Given the description of an element on the screen output the (x, y) to click on. 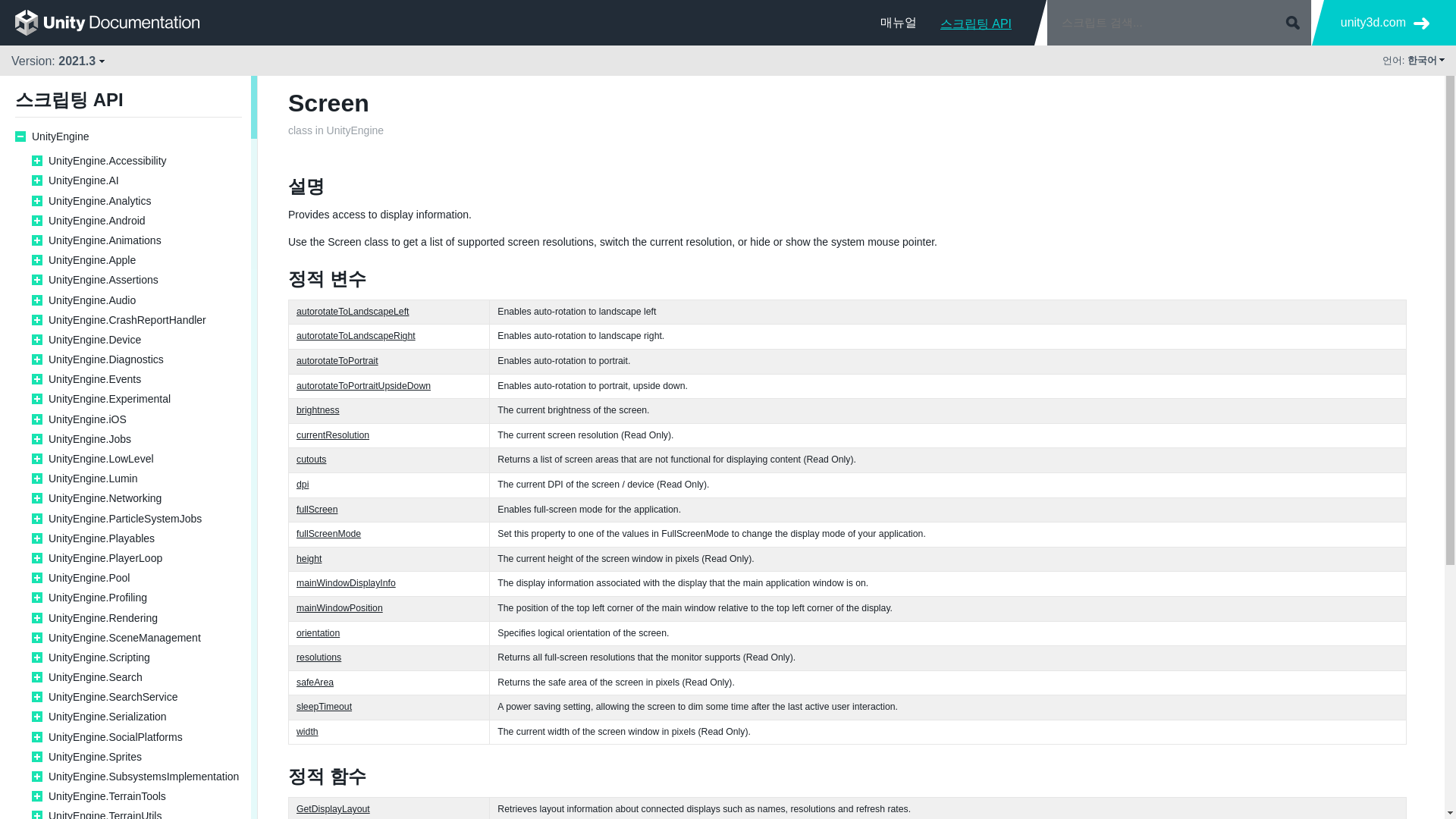
unity3d.com (1384, 22)
